Given the description of an element on the screen output the (x, y) to click on. 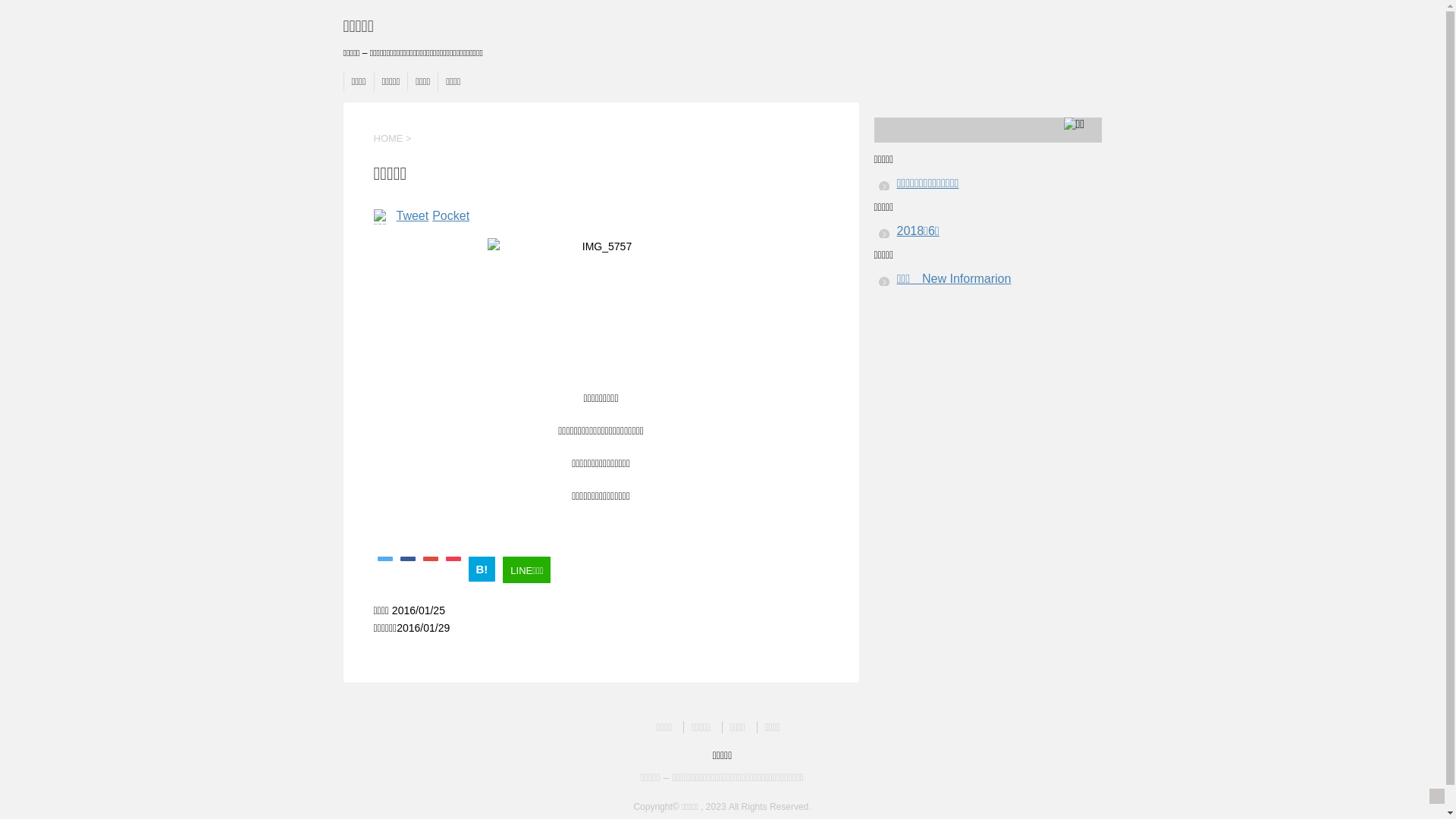
B! Element type: text (481, 568)
HOME Element type: text (387, 138)
Pocket Element type: text (450, 215)
Tweet Element type: text (411, 215)
